Given the description of an element on the screen output the (x, y) to click on. 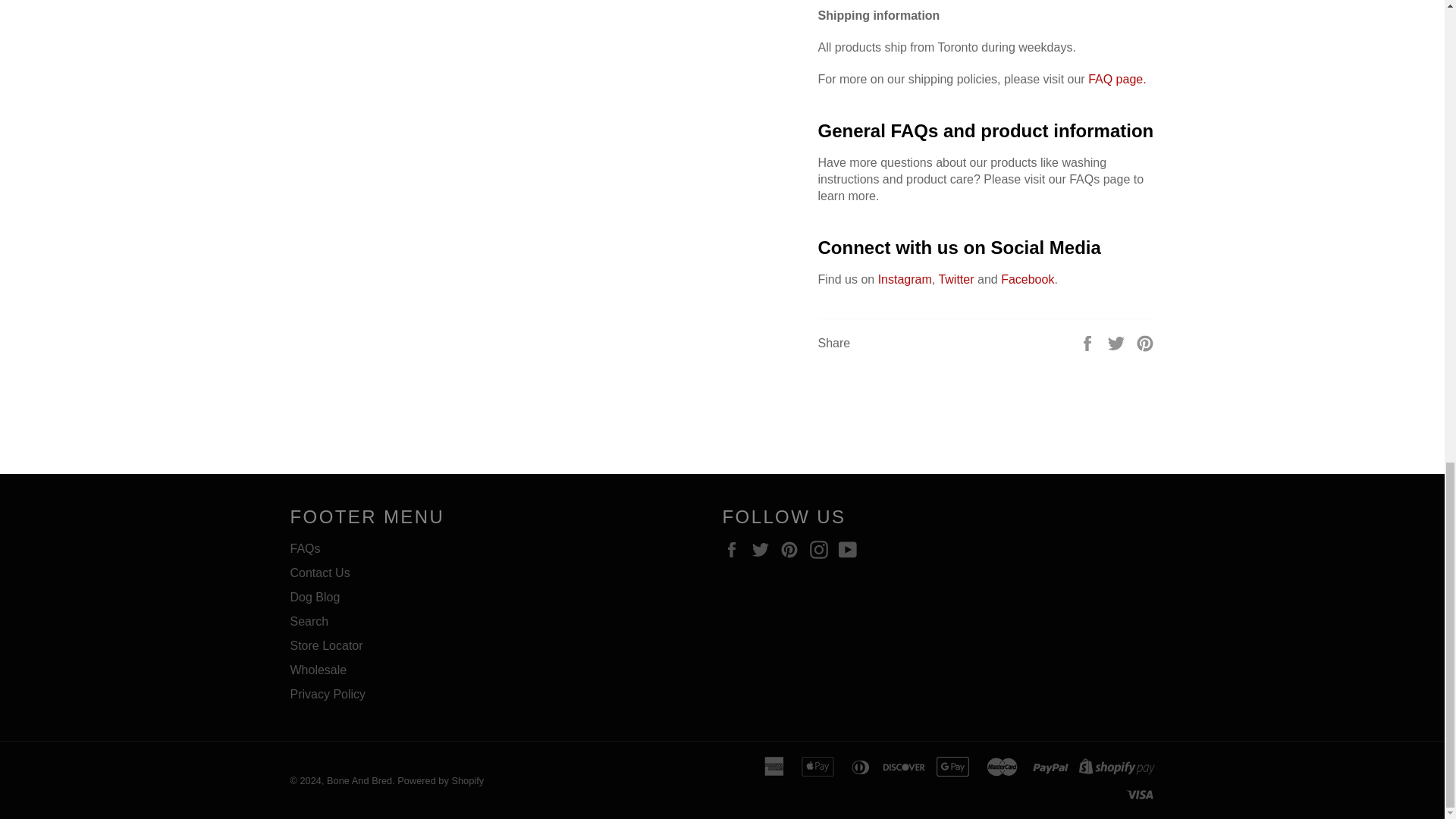
Pin on Pinterest (1144, 341)
Bone And Bred on Pinterest (793, 549)
Bone And Bred on Instagram (822, 549)
Share on Facebook (1088, 341)
Bone And Bred on Twitter (764, 549)
Tweet on Twitter (1117, 341)
Bone And Bred on Facebook (735, 549)
Bone And Bred on YouTube (851, 549)
